Given the description of an element on the screen output the (x, y) to click on. 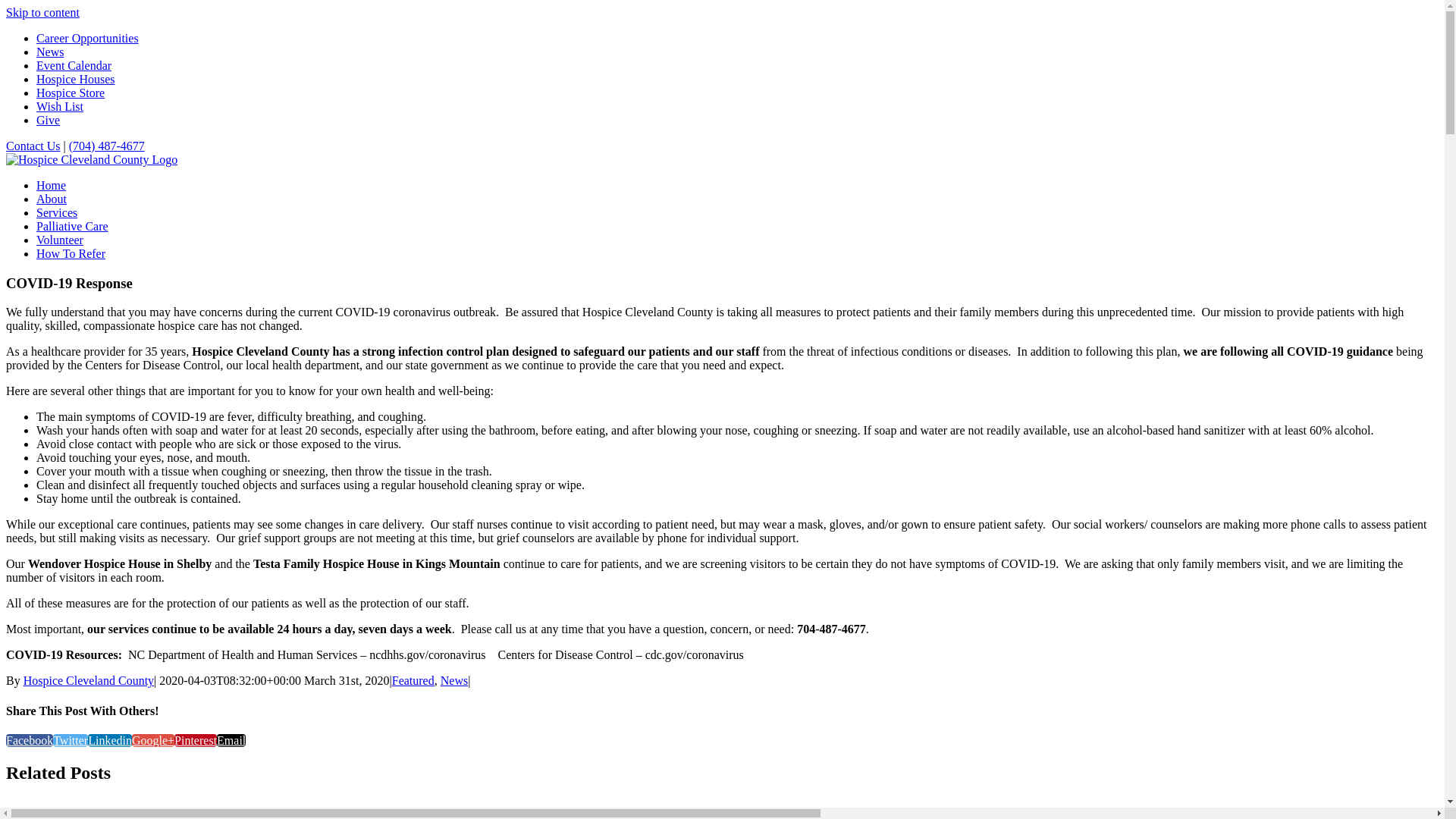
Contact Us Element type: text (33, 145)
Twitter Element type: text (70, 740)
About Element type: text (51, 198)
Email Element type: text (230, 740)
Career Opportunities Element type: text (87, 37)
Skip to content Element type: text (42, 12)
Hospice Houses Element type: text (75, 78)
Hospice Store Element type: text (70, 92)
Volunteer Element type: text (59, 239)
Facebook Element type: text (29, 740)
Wish List Element type: text (59, 106)
Linkedin Element type: text (109, 740)
How To Refer Element type: text (70, 253)
(704) 487-4677 Element type: text (106, 145)
Hospice Cleveland County Element type: text (88, 680)
Google+ Element type: text (152, 740)
Palliative Care Element type: text (72, 225)
News Element type: text (49, 51)
Pinterest Element type: text (195, 740)
News Element type: text (453, 680)
Featured Element type: text (413, 680)
Give Element type: text (47, 119)
Services Element type: text (56, 212)
Home Element type: text (50, 184)
Event Calendar Element type: text (73, 65)
